Given the description of an element on the screen output the (x, y) to click on. 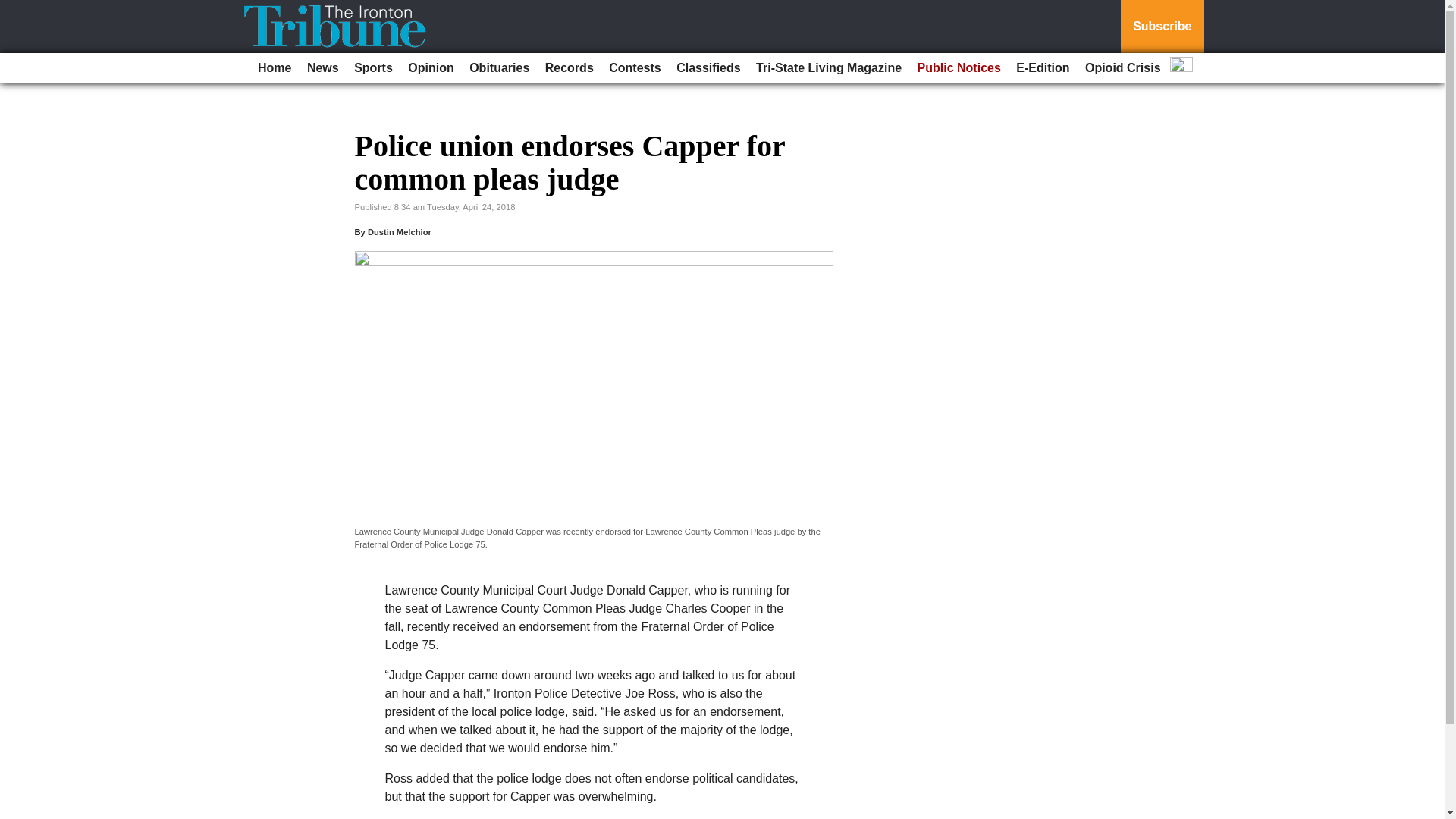
News (323, 68)
Public Notices (959, 68)
Dustin Melchior (399, 231)
Records (568, 68)
Subscribe (1162, 26)
E-Edition (1042, 68)
Obituaries (499, 68)
Opioid Crisis (1122, 68)
Classifieds (707, 68)
Contests (634, 68)
